Given the description of an element on the screen output the (x, y) to click on. 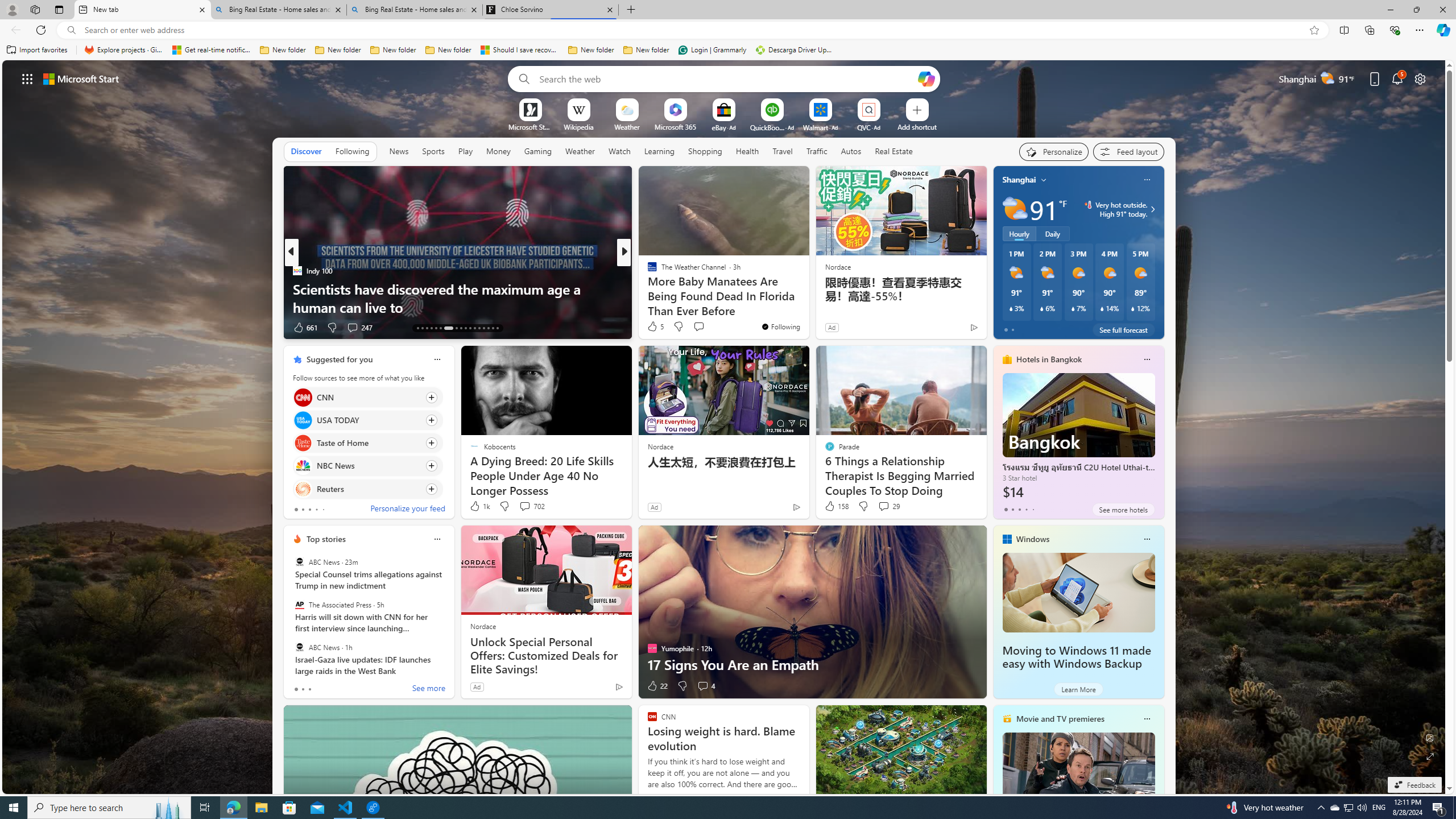
View comments 7 Comment (702, 327)
CNBC (647, 270)
Page settings (1420, 78)
151 Like (654, 327)
93 Like (652, 327)
Top stories (325, 538)
View comments 1 Comment (702, 327)
tab-2 (309, 689)
Descarga Driver Updater (794, 49)
NBC News (302, 466)
